Given the description of an element on the screen output the (x, y) to click on. 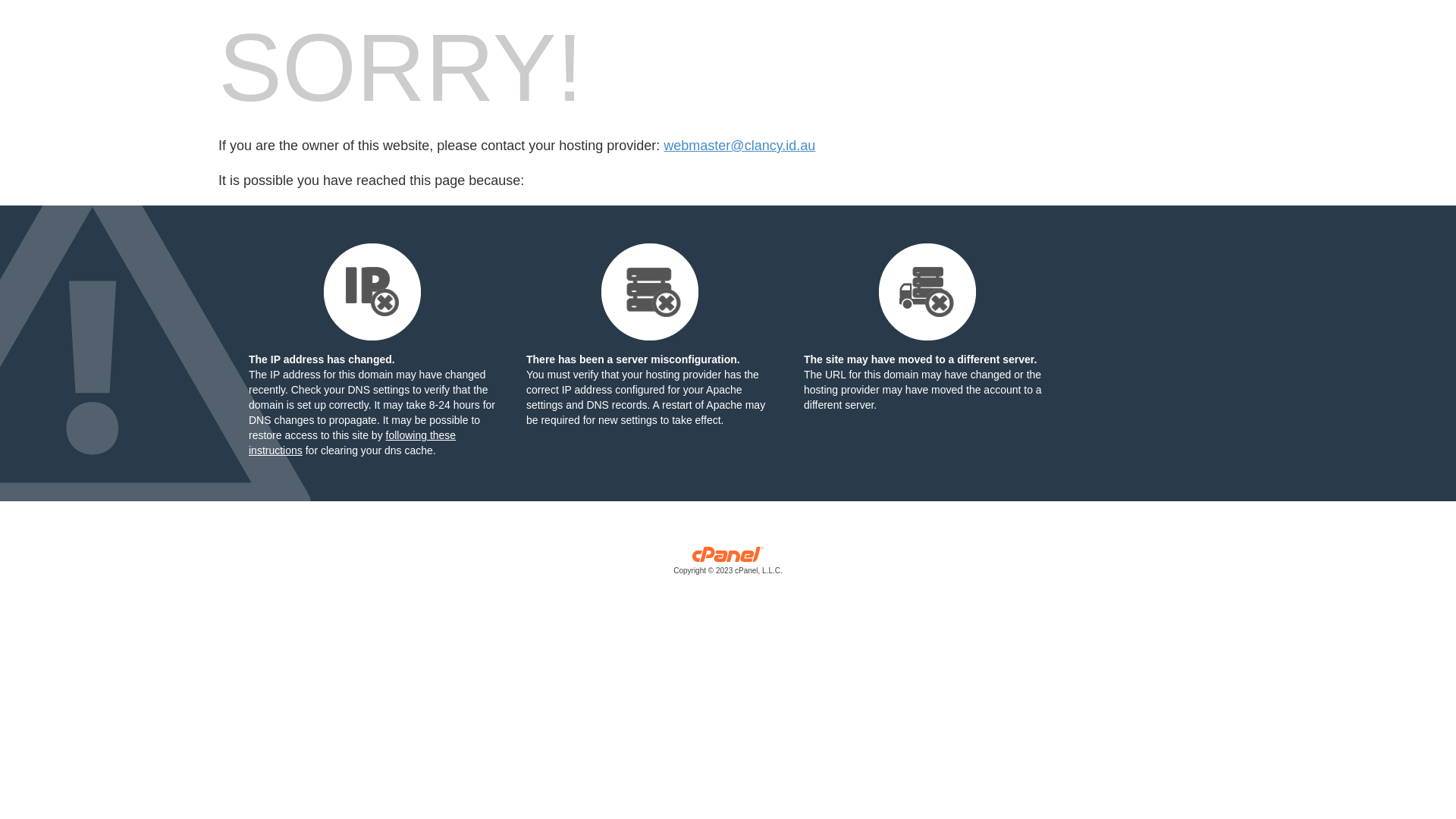
webmaster@clancy.id.au Element type: text (739, 145)
following these instructions Element type: text (351, 442)
